Given the description of an element on the screen output the (x, y) to click on. 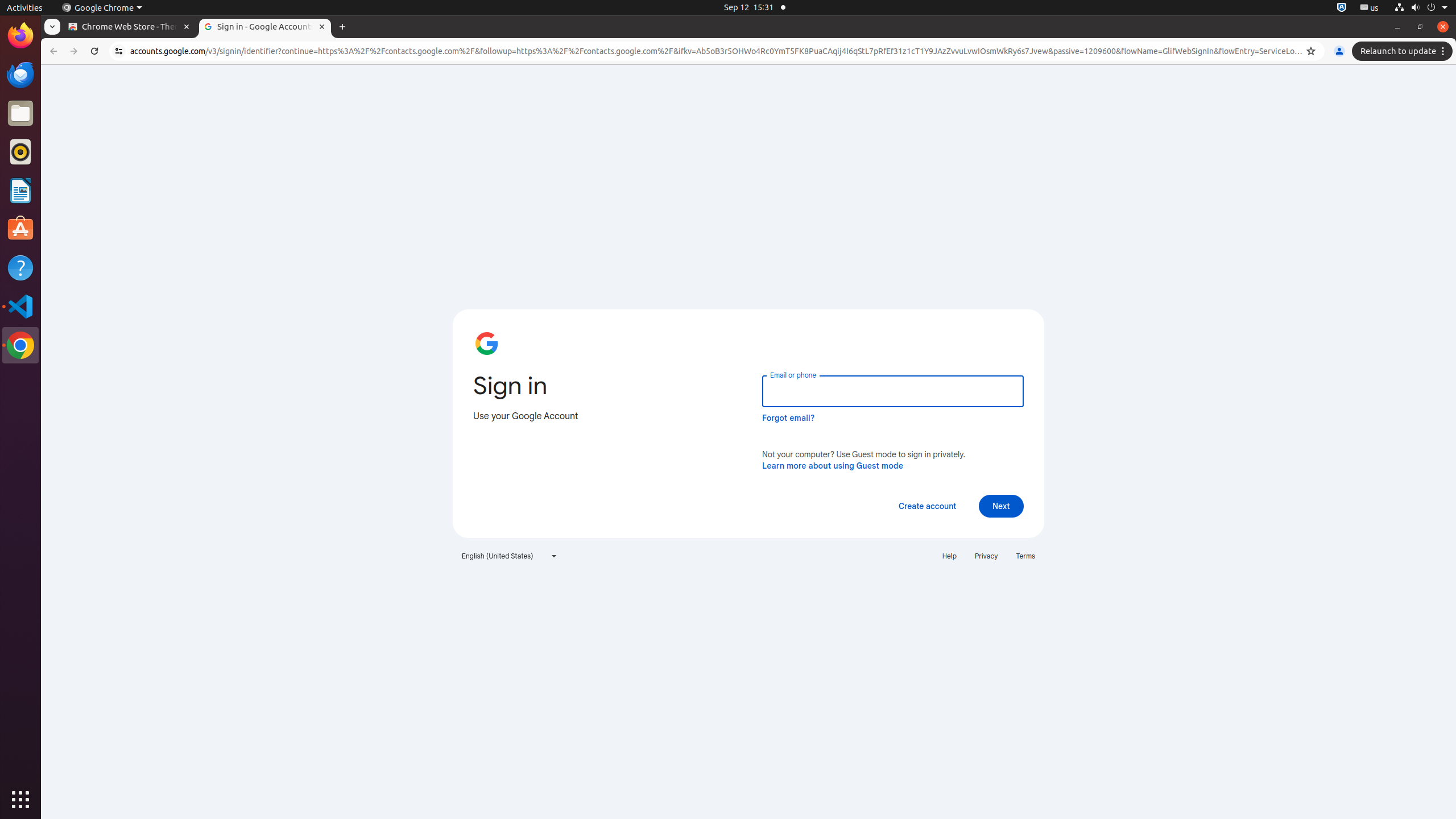
:1.72/StatusNotifierItem Element type: menu (1341, 7)
Learn more about using Guest mode Element type: link (832, 465)
Relaunch to update Element type: push-button (1403, 50)
LibreOffice Writer Element type: push-button (20, 190)
View site information Element type: push-button (118, 51)
